Given the description of an element on the screen output the (x, y) to click on. 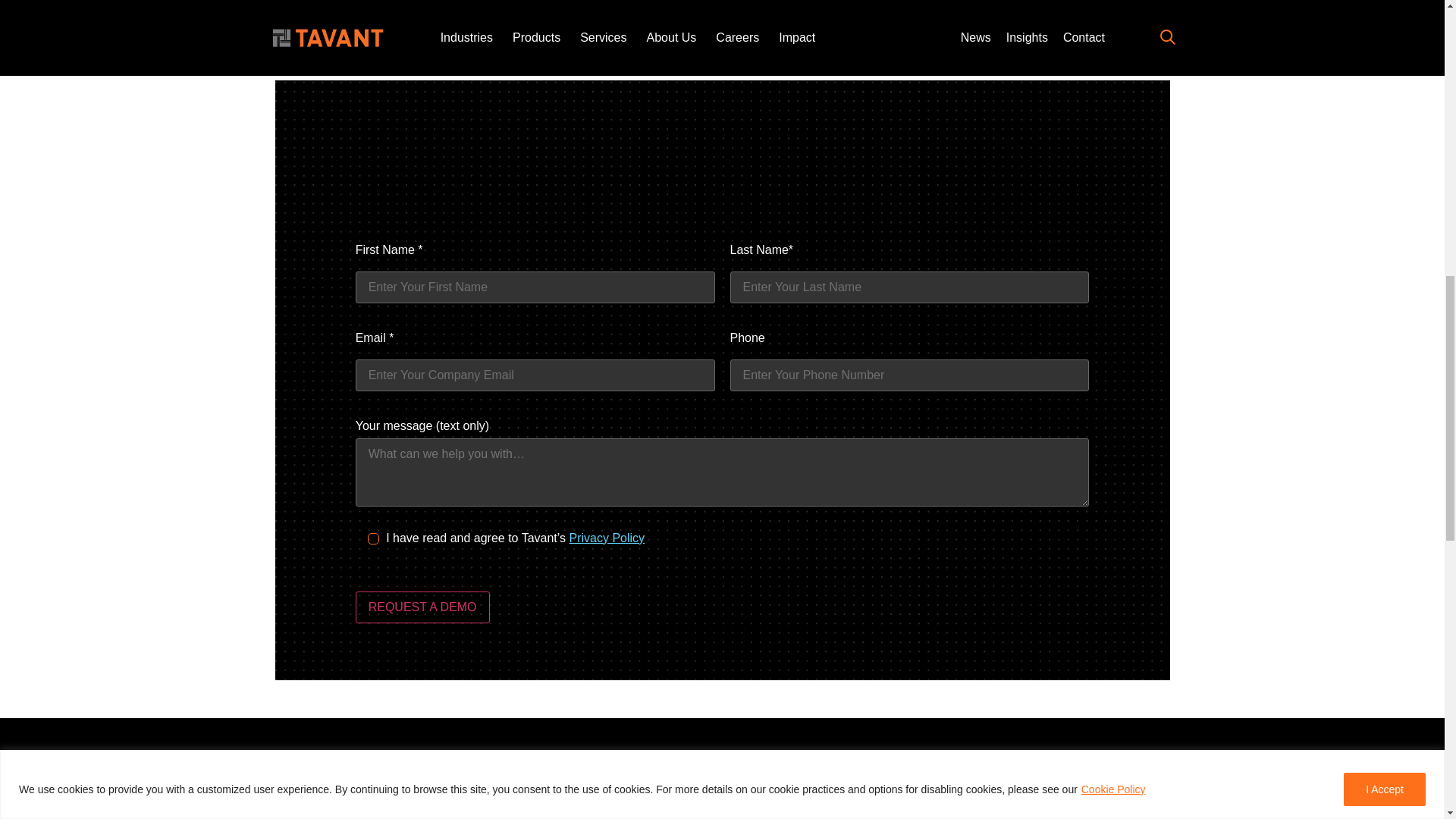
REQUEST A DEMO (422, 607)
1 (373, 538)
